Given the description of an element on the screen output the (x, y) to click on. 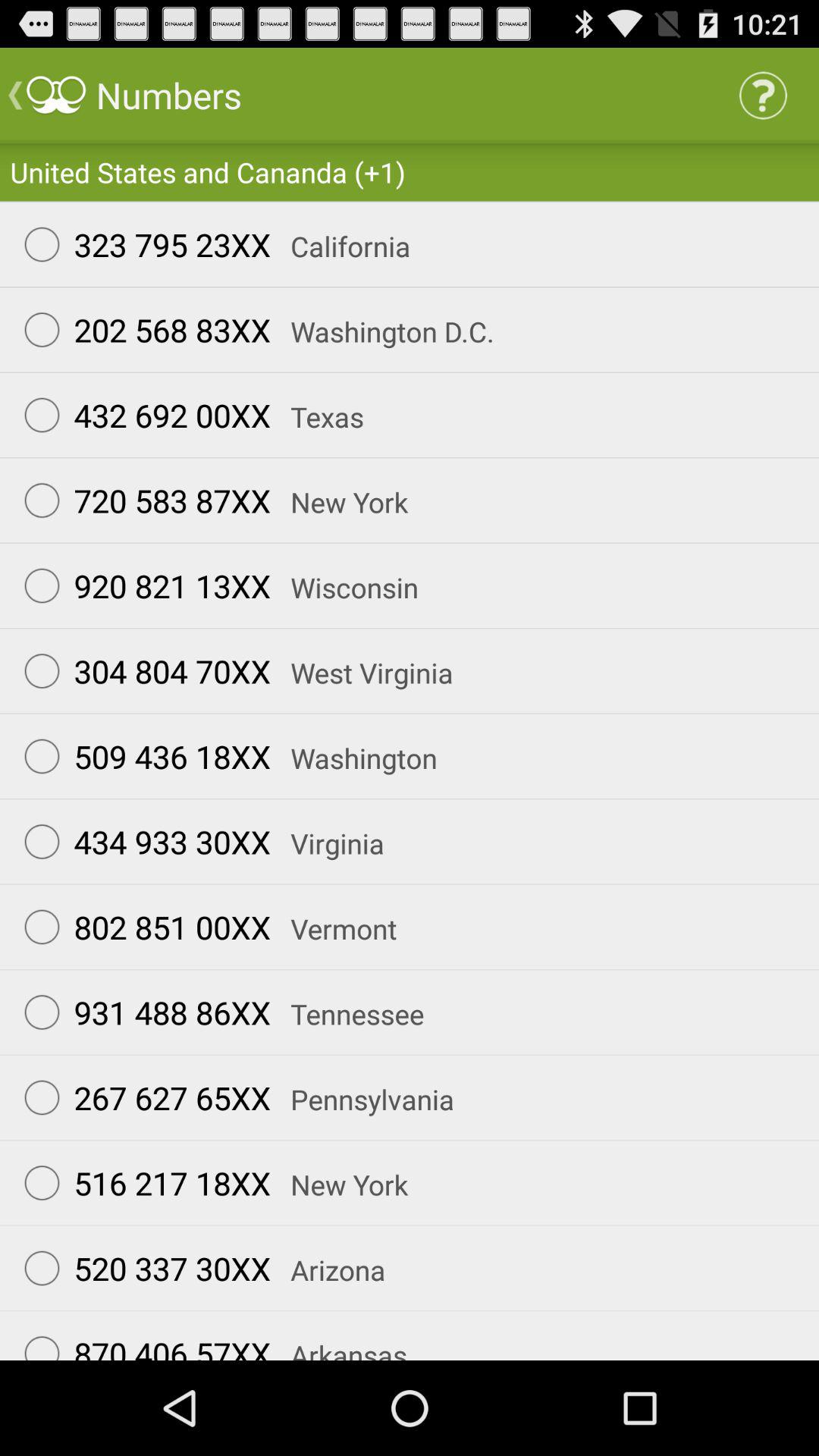
click the item to the left of tennessee app (140, 1012)
